Given the description of an element on the screen output the (x, y) to click on. 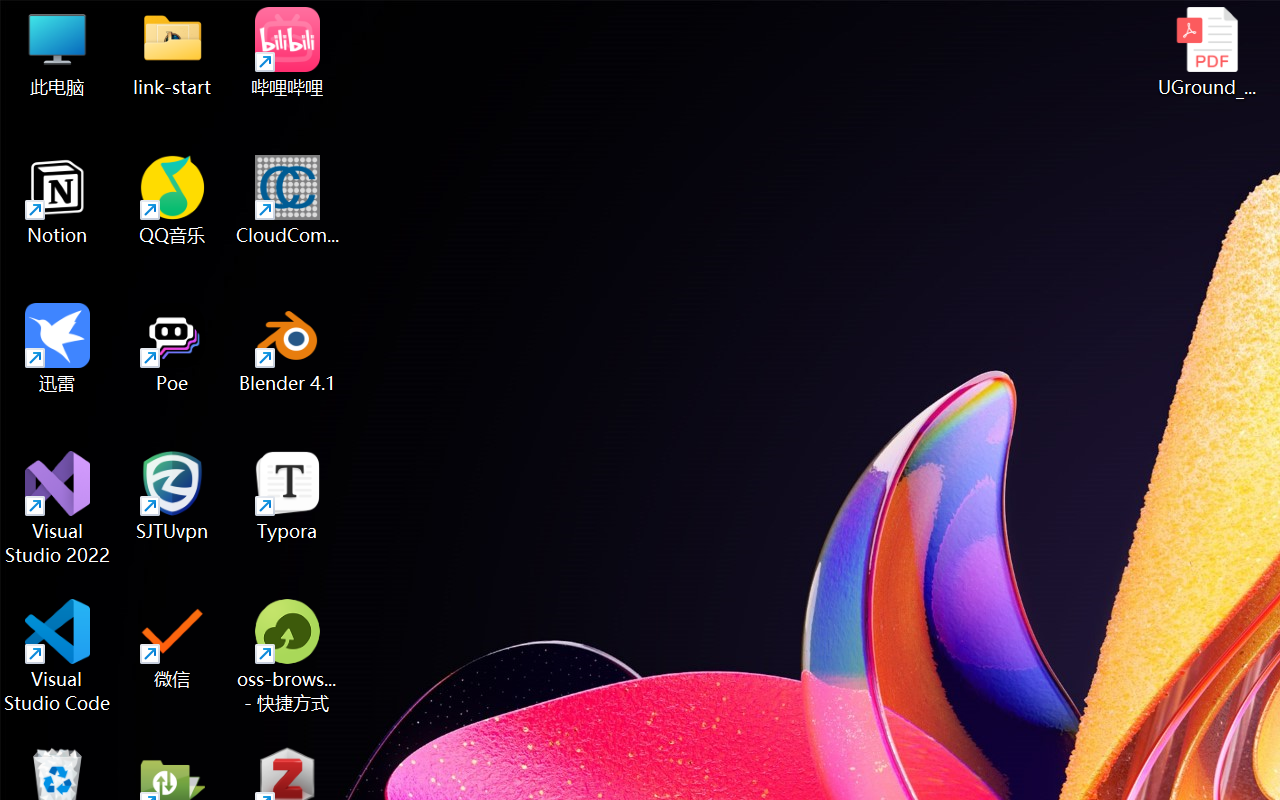
Blender 4.1 (287, 348)
Visual Studio Code (57, 656)
SJTUvpn (172, 496)
CloudCompare (287, 200)
Typora (287, 496)
Visual Studio 2022 (57, 508)
UGround_paper.pdf (1206, 52)
